Given the description of an element on the screen output the (x, y) to click on. 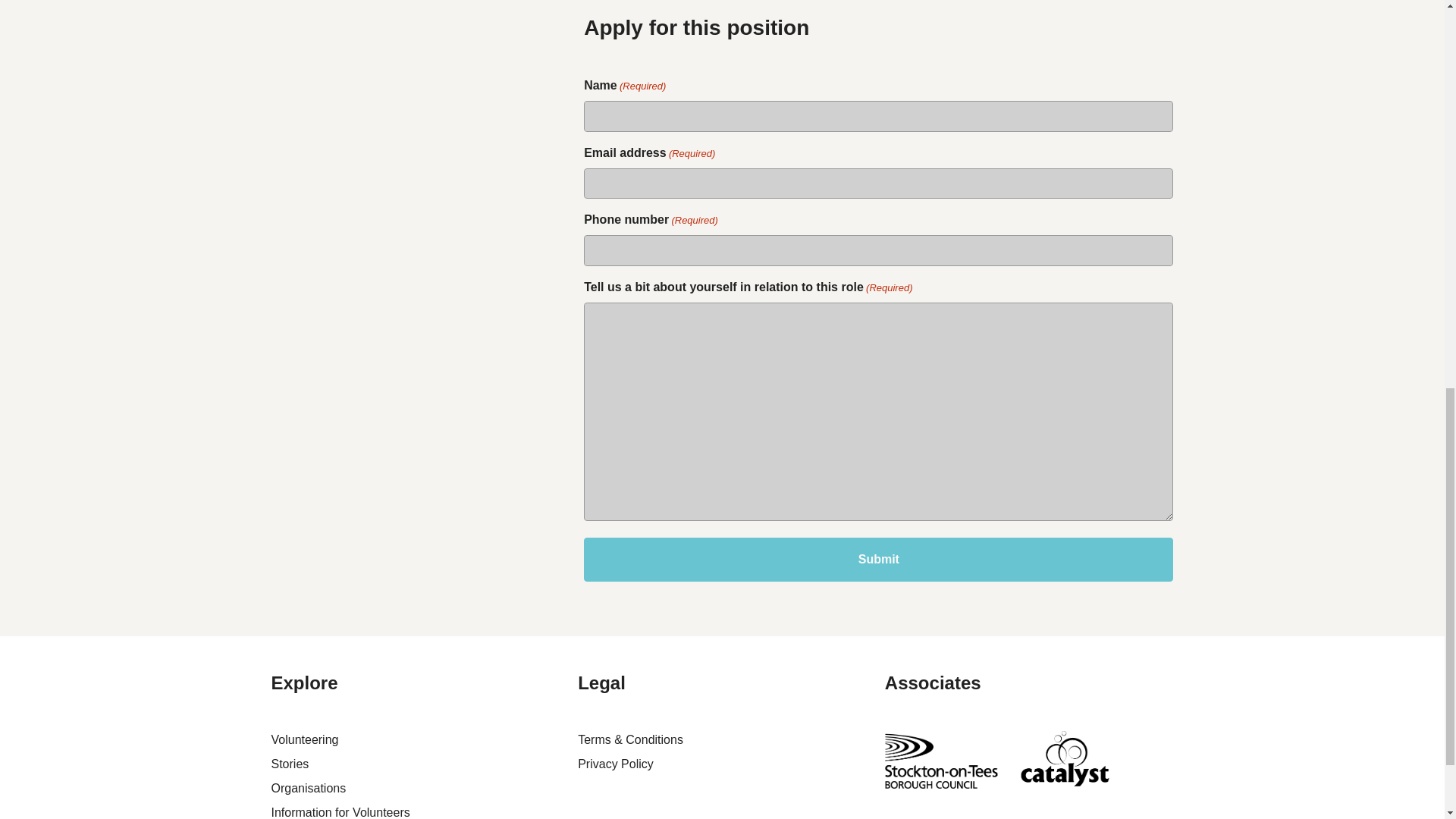
Submit (878, 559)
Privacy Policy (615, 763)
Organisations (308, 788)
Stories (289, 763)
Information for Volunteers (340, 812)
Volunteering (304, 739)
